Given the description of an element on the screen output the (x, y) to click on. 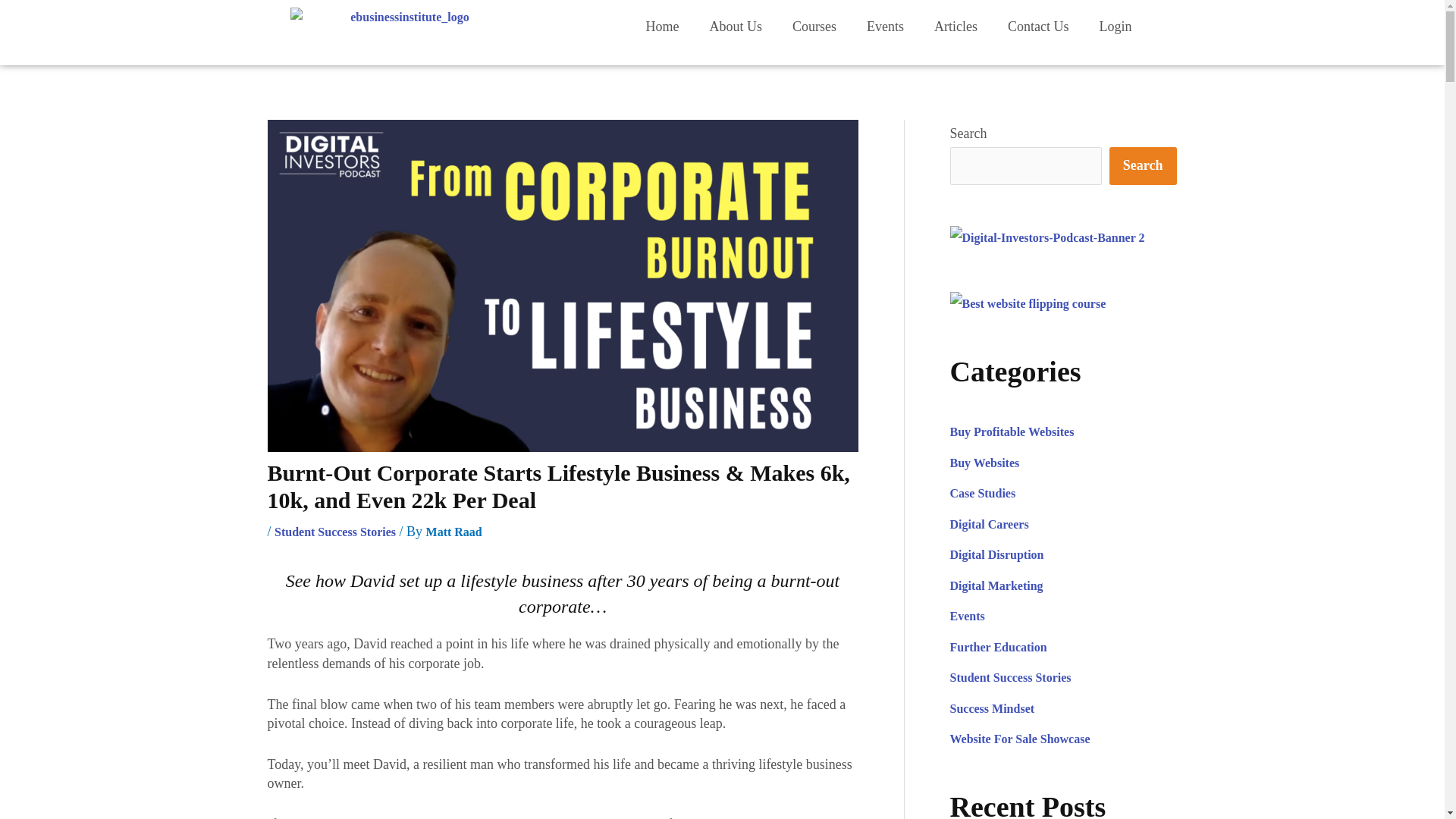
Login (1115, 26)
Courses (814, 26)
Articles (955, 26)
Student Success Stories (335, 531)
Matt Raad (453, 531)
Contact Us (1038, 26)
View all posts by Matt Raad (453, 531)
Events (884, 26)
About Us (735, 26)
Home (662, 26)
